Given the description of an element on the screen output the (x, y) to click on. 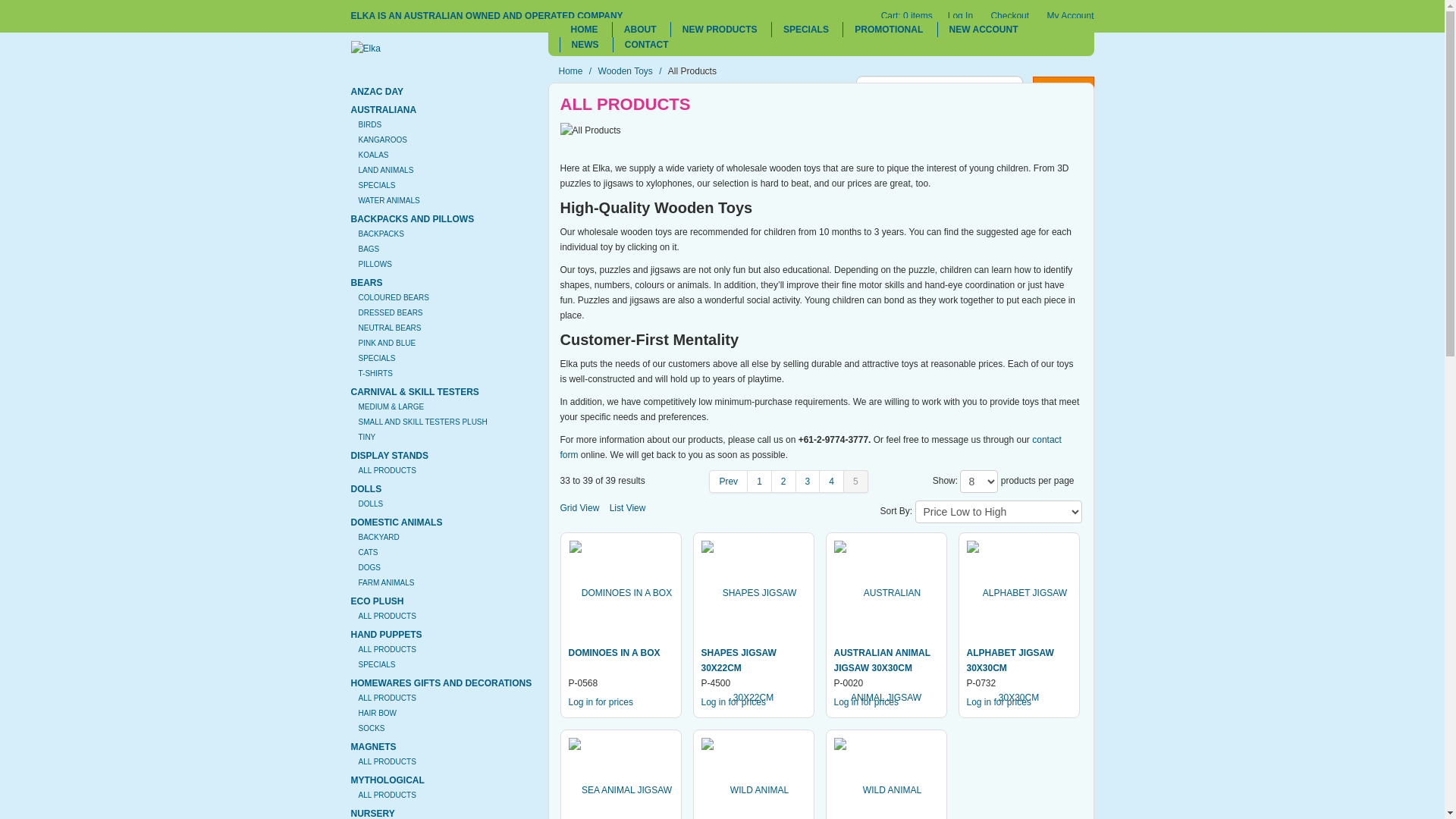
CARNIVAL & SKILL TESTERS Element type: text (414, 391)
NEWS Element type: text (584, 44)
Log in for prices Element type: text (998, 701)
contact form Element type: text (809, 447)
DOLLS Element type: text (369, 503)
MEDIUM & LARGE Element type: text (390, 406)
DOGS Element type: text (368, 567)
Log in for prices Element type: text (732, 701)
DRESSED BEARS Element type: text (389, 312)
LAND ANIMALS Element type: text (385, 170)
NEW PRODUCTS Element type: text (719, 29)
List View Element type: text (627, 507)
AUSTRALIANA Element type: text (383, 109)
ANZAC DAY Element type: text (376, 91)
AUSTRALIAN ANIMAL JIGSAW 30X30CM Element type: text (882, 660)
ALL PRODUCTS Element type: text (386, 761)
BACKPACKS AND PILLOWS Element type: text (411, 218)
DOLLS Element type: text (365, 488)
DISPLAY STANDS Element type: text (388, 455)
SPECIALS Element type: text (376, 185)
SMALL AND SKILL TESTERS PLUSH Element type: text (421, 421)
SPECIALS Element type: text (805, 29)
ALL PRODUCTS Element type: text (386, 649)
ABOUT Element type: text (639, 29)
All Products Element type: hover (589, 130)
T-SHIRTS Element type: text (374, 373)
CATS Element type: text (367, 552)
HAND PUPPETS Element type: text (385, 634)
COLOURED BEARS Element type: text (392, 297)
DOMESTIC ANIMALS Element type: text (396, 522)
BACKPACKS Element type: text (380, 233)
HOMEWARES GIFTS AND DECORATIONS Element type: text (440, 682)
ALL PRODUCTS Element type: text (386, 470)
KOALAS Element type: text (372, 154)
Log in for prices Element type: text (866, 701)
BAGS Element type: text (368, 248)
DOMINOES IN A BOX Element type: text (614, 652)
Search Element type: text (1062, 86)
FARM ANIMALS Element type: text (385, 582)
BIRDS Element type: text (369, 124)
NEW ACCOUNT Element type: text (983, 29)
4 Element type: text (831, 481)
2 Element type: text (783, 481)
Log in for prices Element type: text (600, 701)
HOME Element type: text (584, 29)
Prev Element type: text (728, 481)
SPECIALS Element type: text (376, 664)
SPECIALS Element type: text (376, 358)
Grid View Element type: text (579, 507)
Wooden Toys Element type: text (625, 70)
ECO PLUSH Element type: text (376, 601)
KANGAROOS Element type: text (381, 139)
1 Element type: text (759, 481)
BACKYARD Element type: text (377, 537)
PINK AND BLUE Element type: text (386, 342)
MYTHOLOGICAL Element type: text (386, 780)
WATER ANIMALS Element type: text (388, 200)
SOCKS Element type: text (370, 728)
SHAPES JIGSAW 30X22CM Element type: text (737, 660)
CONTACT Element type: text (646, 44)
ALPHABET JIGSAW 30X30CM Element type: text (1009, 660)
BEARS Element type: text (366, 282)
Checkout Element type: text (1009, 15)
ALL PRODUCTS Element type: text (386, 794)
TINY Element type: text (366, 437)
NEUTRAL BEARS Element type: text (388, 327)
HAIR BOW Element type: text (376, 713)
MAGNETS Element type: text (372, 746)
ALL PRODUCTS Element type: text (386, 697)
5 Element type: text (856, 481)
Home Element type: text (570, 70)
Cart: 0 items Element type: text (906, 15)
Log In Element type: text (959, 15)
My Account Element type: text (1069, 15)
PROMOTIONAL Element type: text (888, 29)
PILLOWS Element type: text (374, 264)
ALL PRODUCTS Element type: text (386, 615)
3 Element type: text (808, 481)
